Given the description of an element on the screen output the (x, y) to click on. 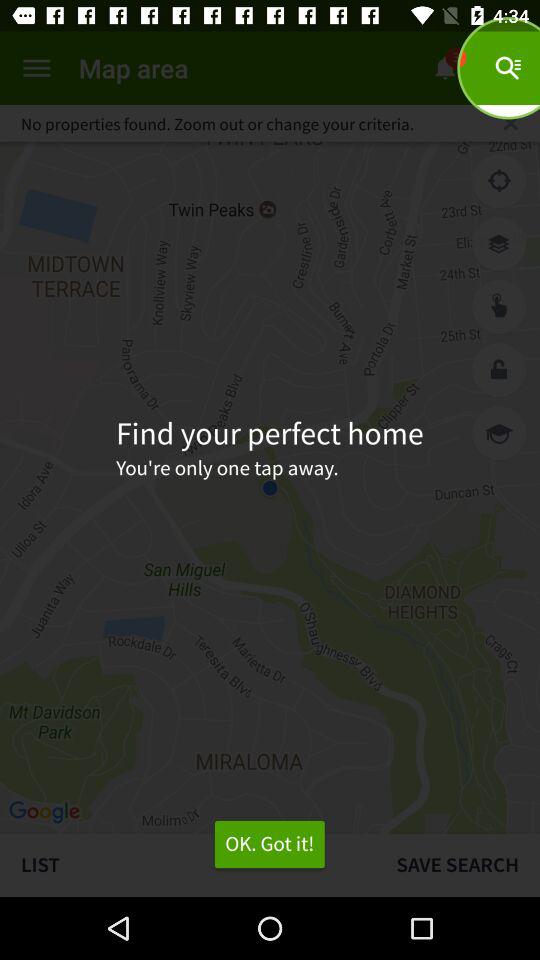
menu (36, 68)
